Given the description of an element on the screen output the (x, y) to click on. 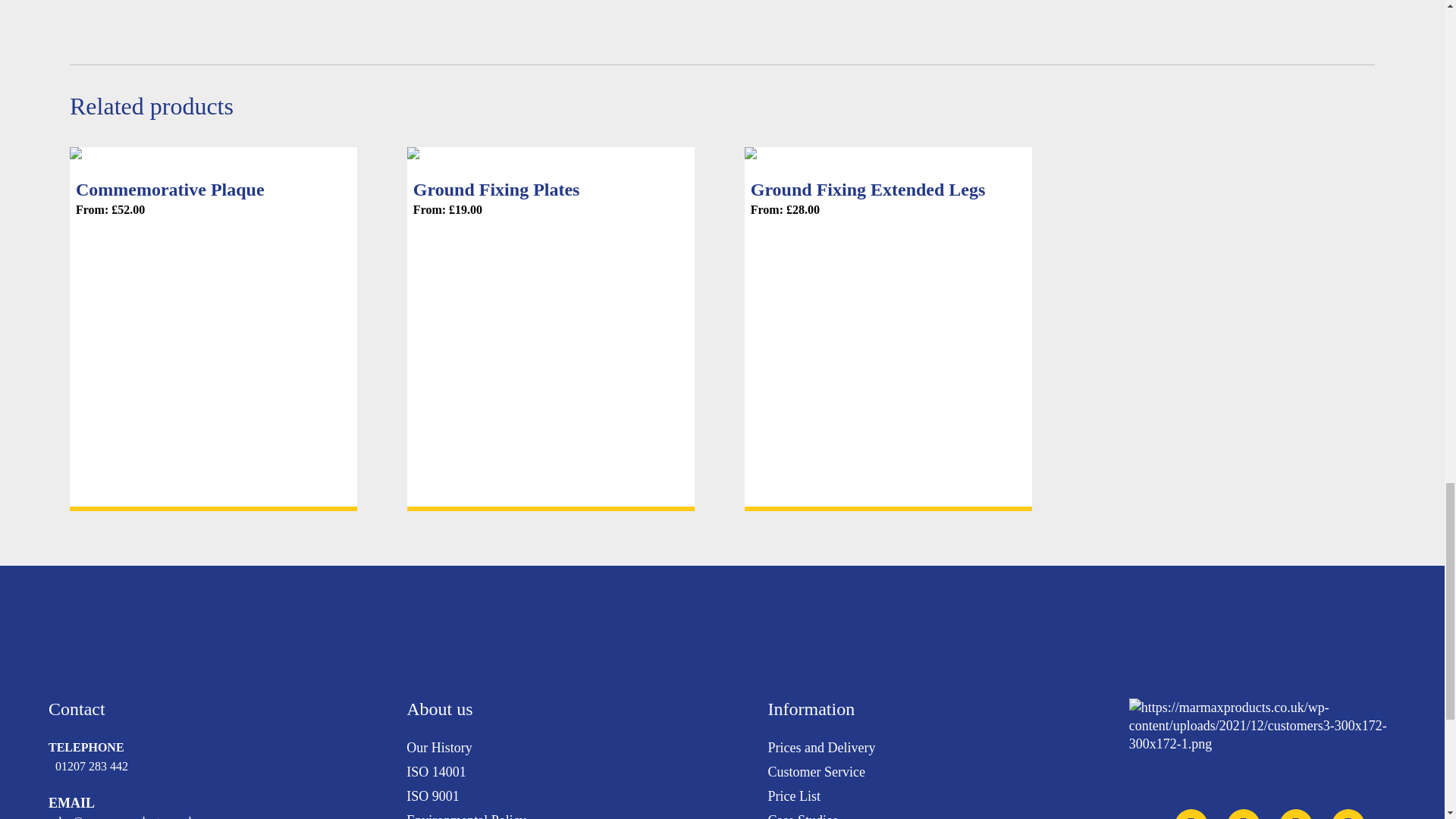
twitter (1191, 814)
linkedin (1296, 814)
Youtube (1243, 814)
facebook (1348, 814)
